Given the description of an element on the screen output the (x, y) to click on. 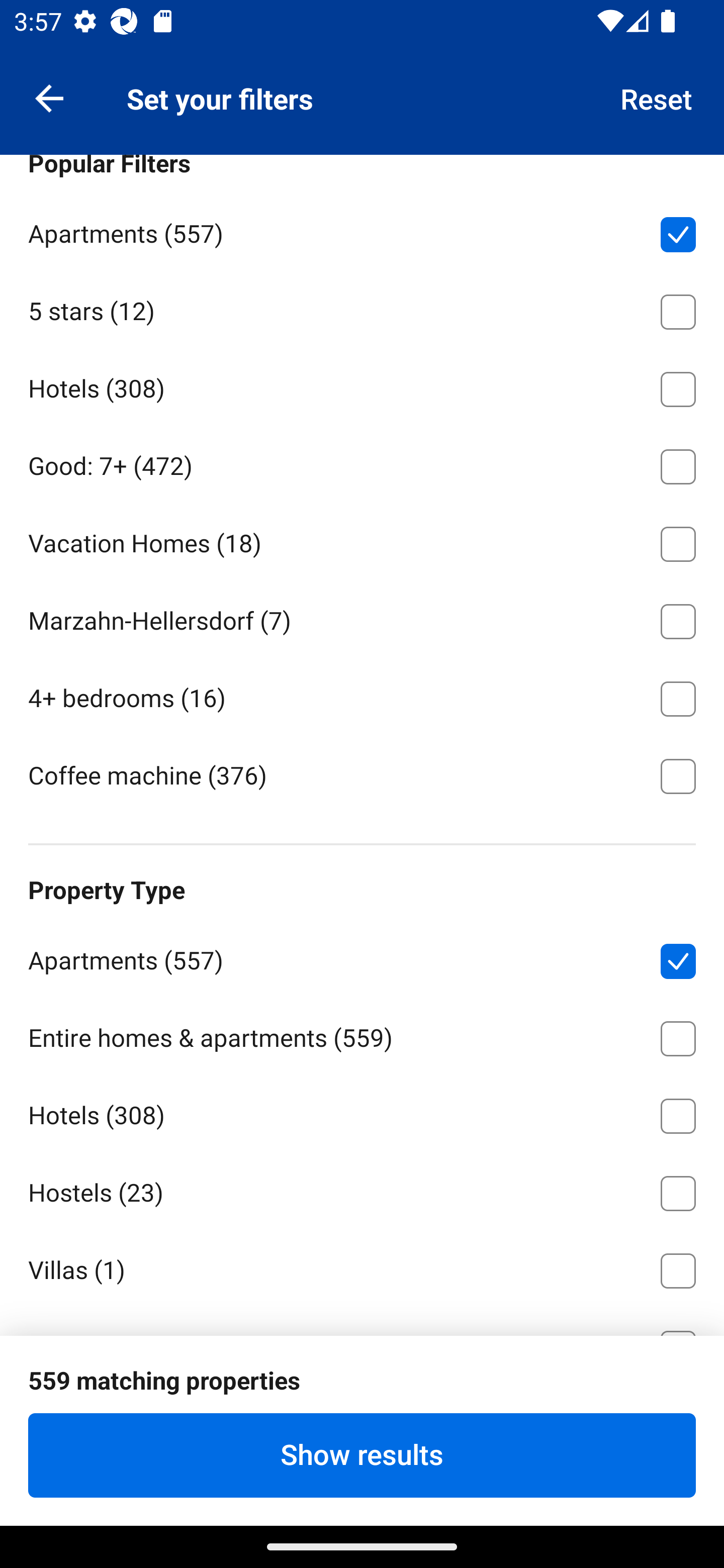
Navigate up (49, 97)
Reset (656, 97)
Apartments ⁦(557) (361, 230)
5 stars ⁦(12) (361, 307)
Hotels ⁦(308) (361, 385)
Good: 7+ ⁦(472) (361, 462)
Vacation Homes ⁦(18) (361, 540)
Marzahn-Hellersdorf ⁦(7) (361, 618)
4+ bedrooms ⁦(16) (361, 694)
Coffee machine ⁦(376) (361, 774)
Apartments ⁦(557) (361, 957)
Entire homes & apartments ⁦(559) (361, 1035)
Hotels ⁦(308) (361, 1112)
Hostels ⁦(23) (361, 1189)
Villas ⁦(1) (361, 1267)
Show results (361, 1454)
